Given the description of an element on the screen output the (x, y) to click on. 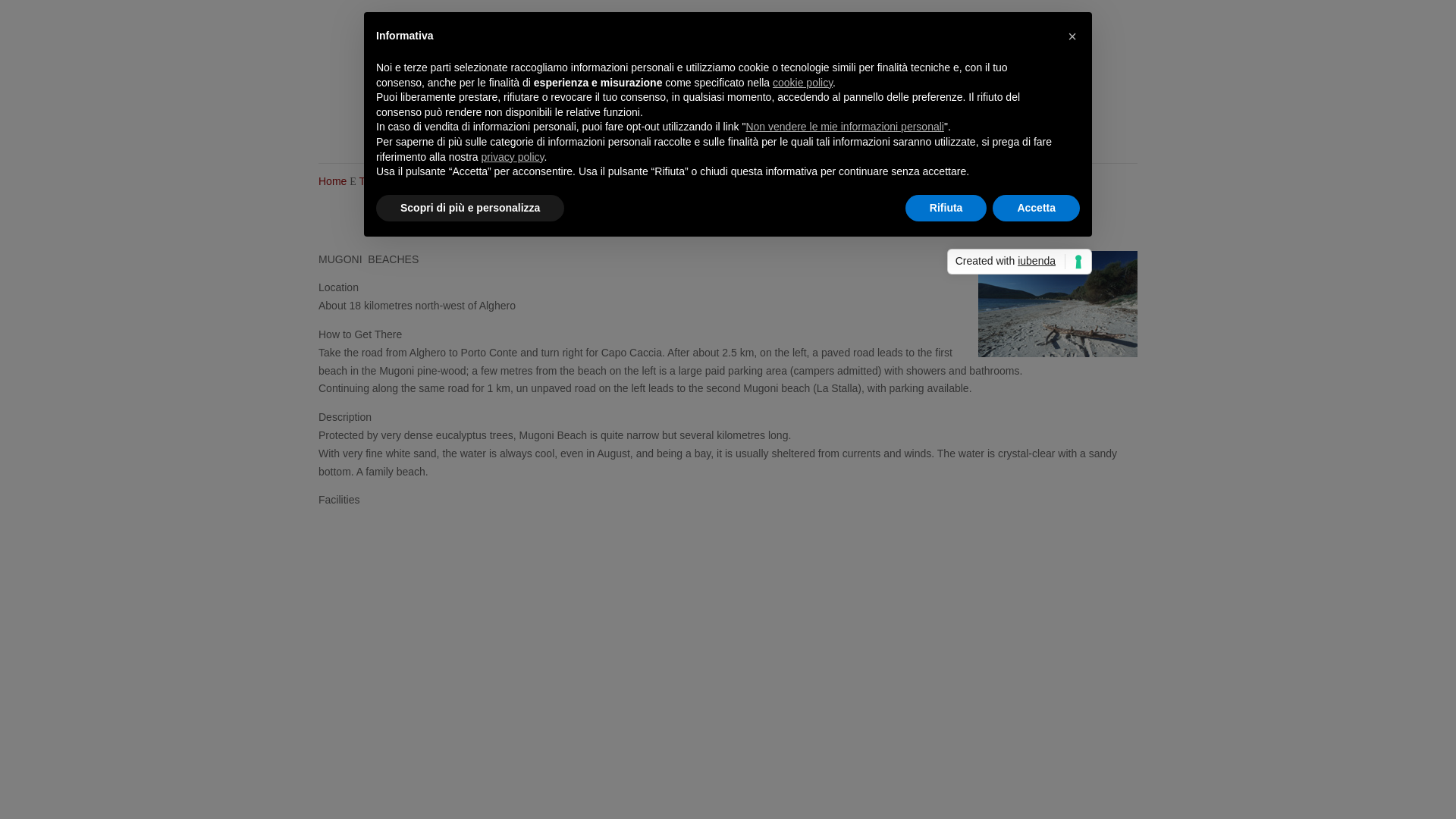
Home (435, 136)
Tourist Guide (631, 136)
New Styles of Tourism (740, 136)
rent a house (802, 230)
first page (641, 230)
Holiday Homes (848, 136)
Advertisement (727, 51)
Tourist Guide (389, 181)
An Island a Continent (520, 136)
Business (956, 136)
Blog (909, 136)
Home (332, 181)
